Given the description of an element on the screen output the (x, y) to click on. 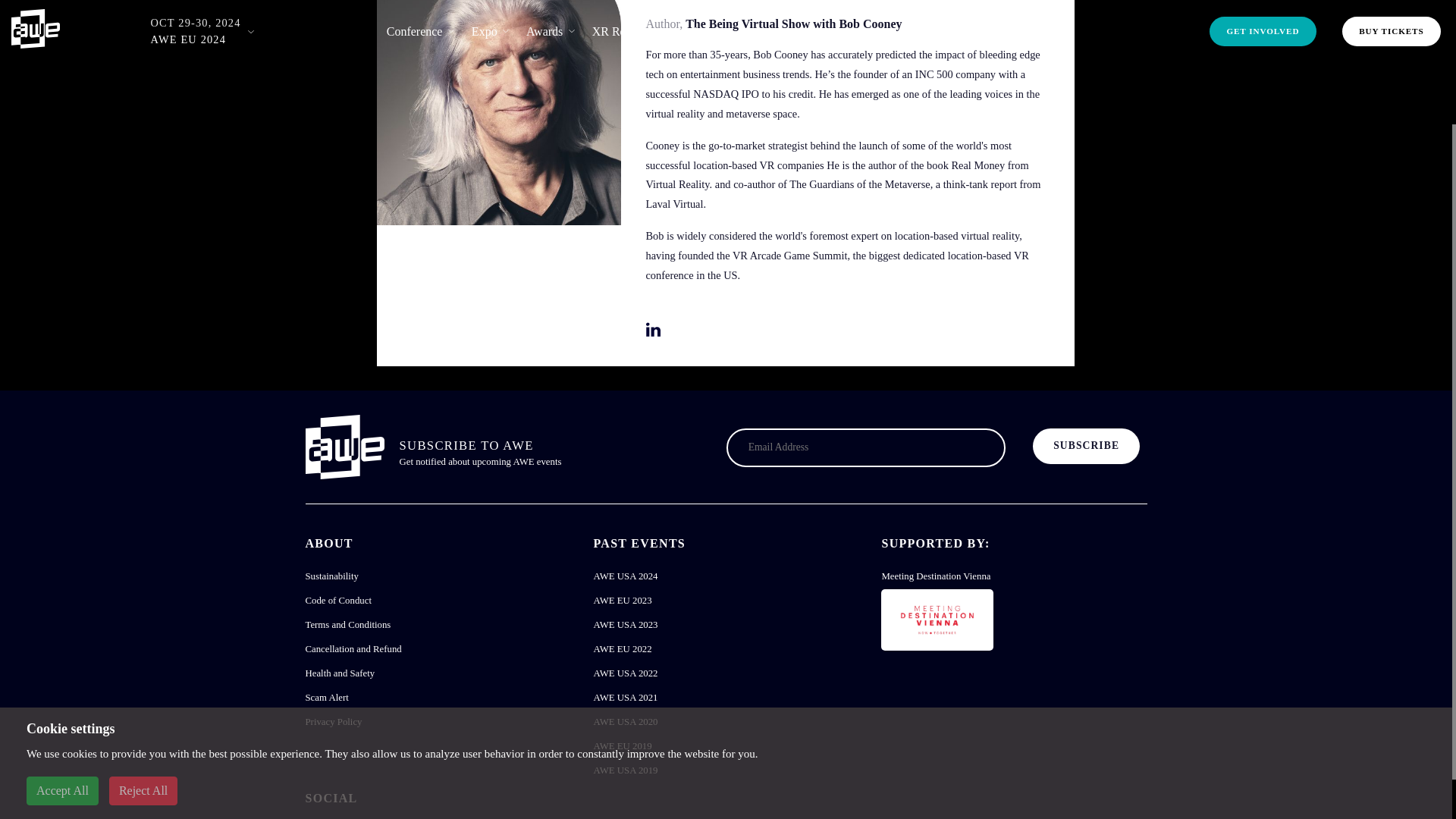
Subscribe (1086, 446)
